Given the description of an element on the screen output the (x, y) to click on. 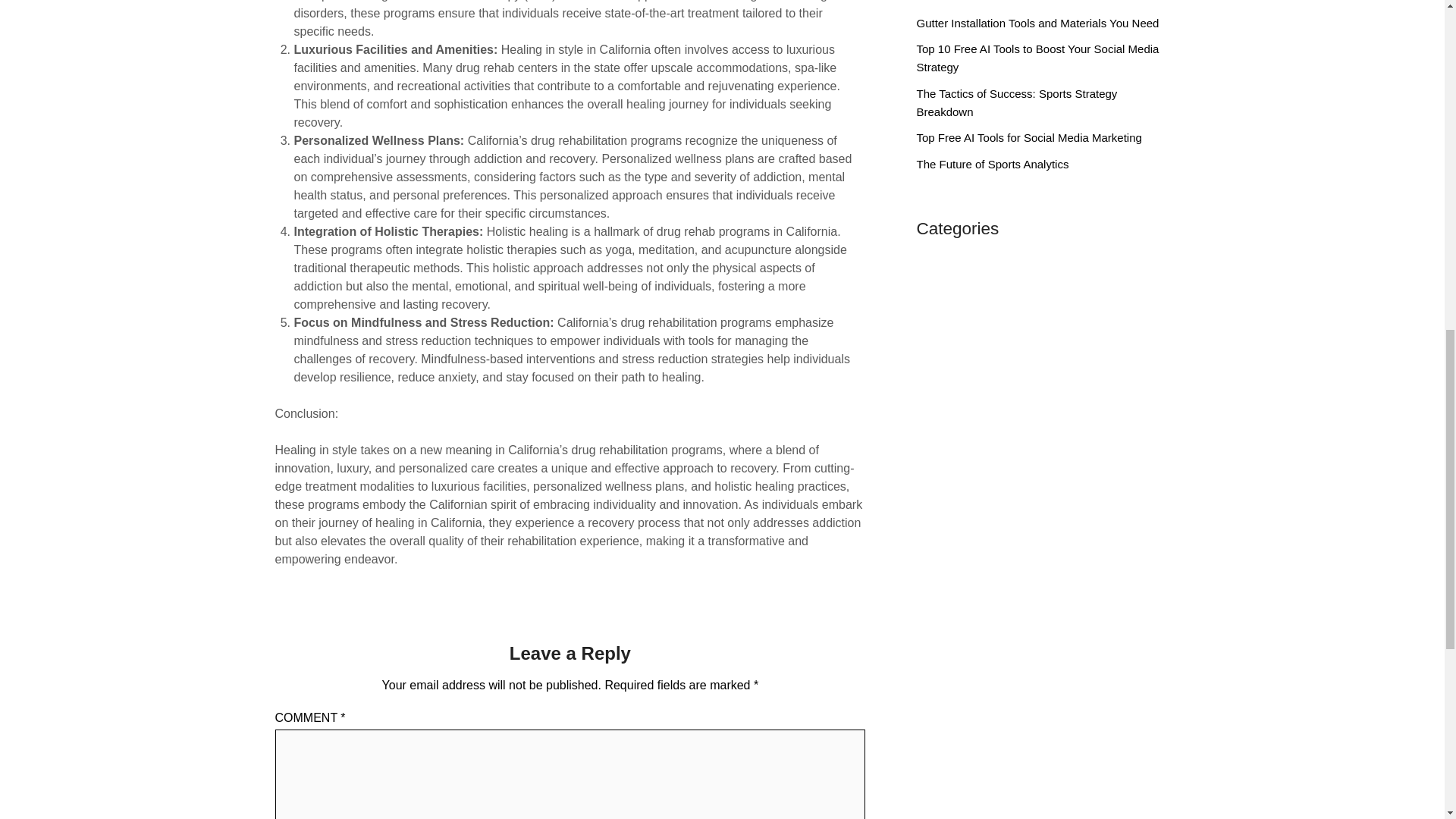
Top Free AI Tools for Social Media Marketing (1028, 137)
Top 10 Free AI Tools to Boost Your Social Media Strategy (1036, 57)
The Future of Sports Analytics (991, 164)
Gutter Installation Tools and Materials You Need (1036, 22)
The Tactics of Success: Sports Strategy Breakdown (1015, 101)
